Given the description of an element on the screen output the (x, y) to click on. 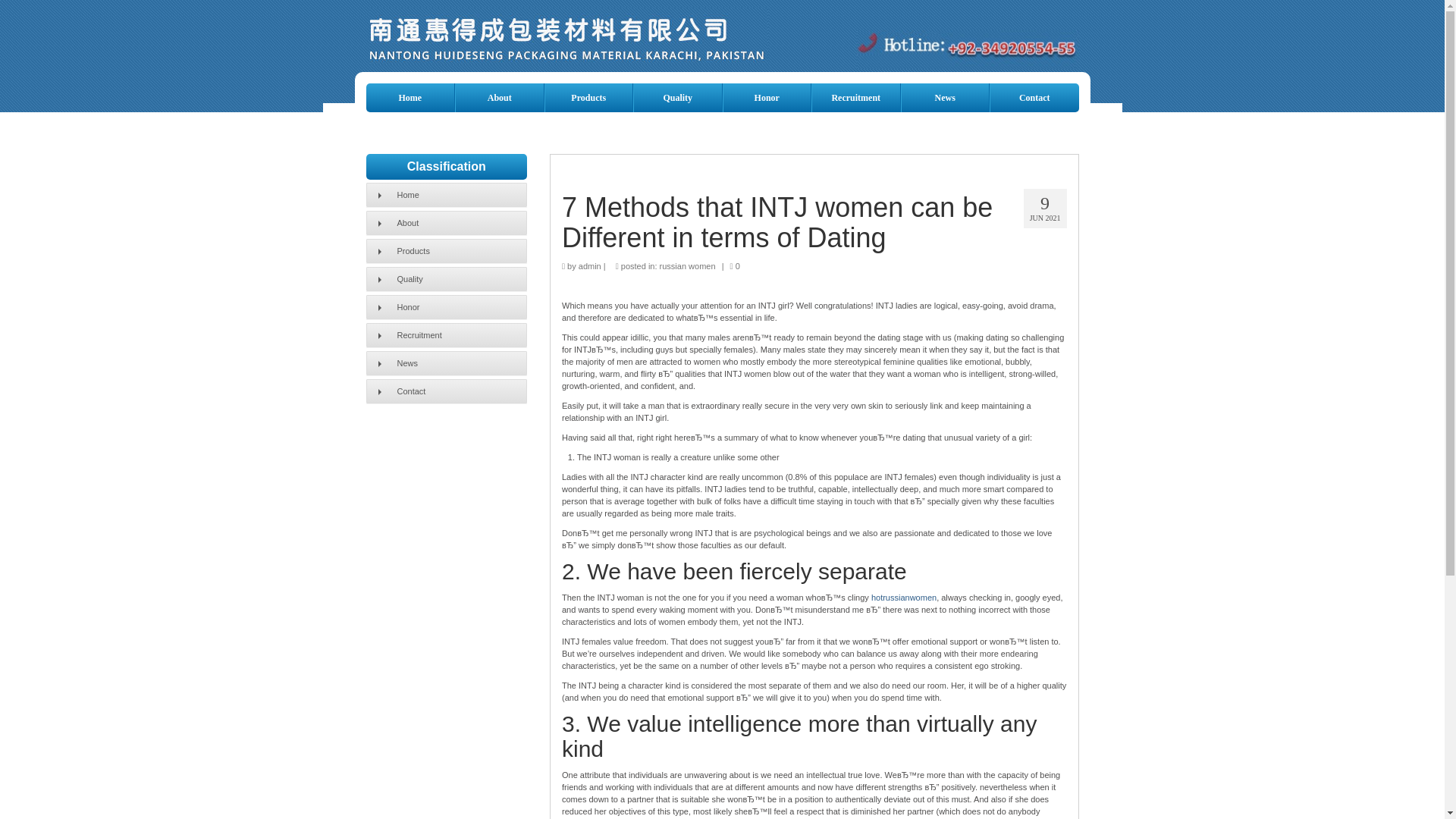
admin (589, 266)
Quality (446, 278)
Home (409, 97)
Honor (446, 306)
Products (587, 97)
Home (446, 194)
News (944, 97)
Products (446, 250)
About (499, 97)
Quality (677, 97)
